Given the description of an element on the screen output the (x, y) to click on. 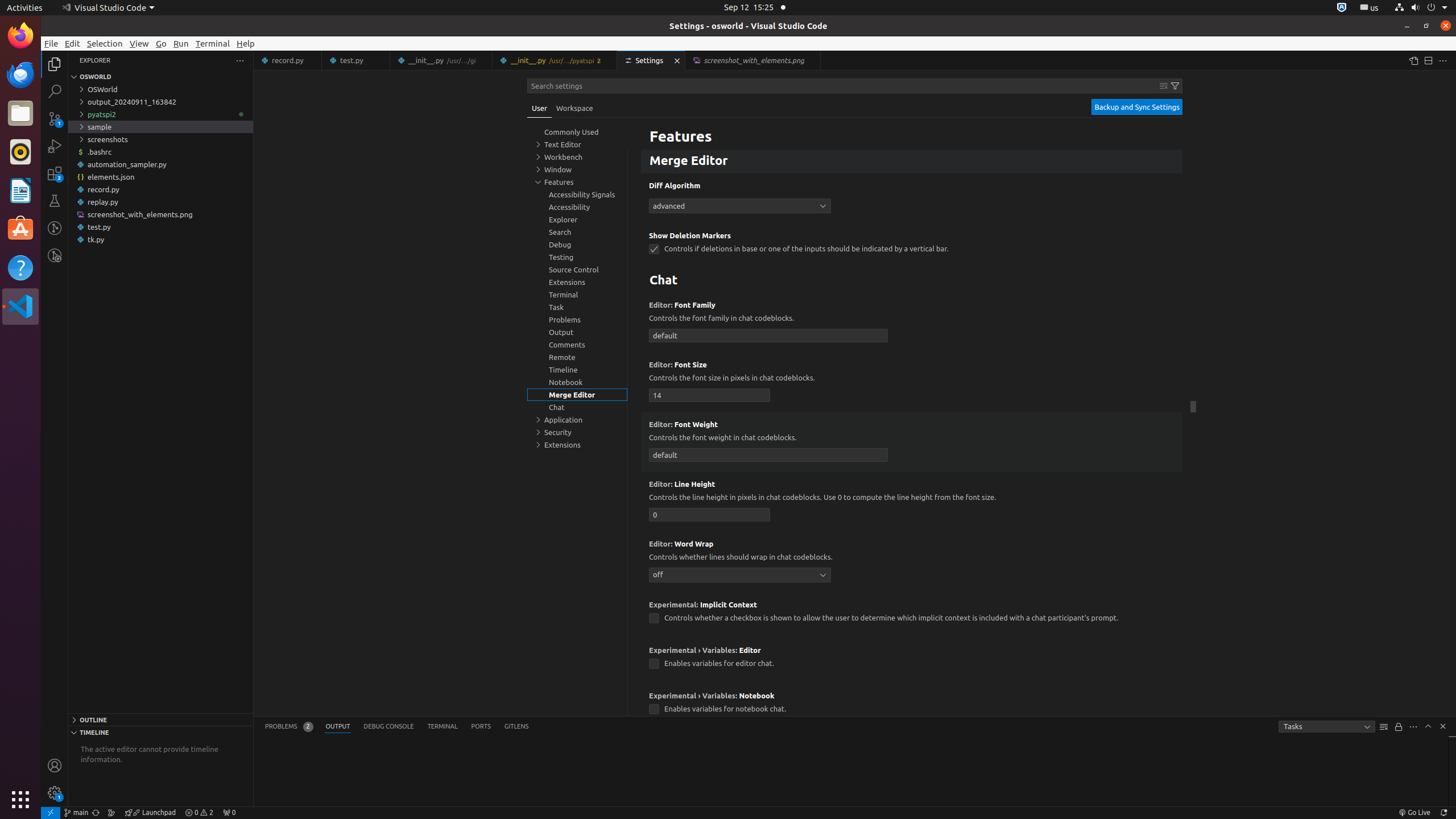
Editor Font Size. Controls the font size in pixels in chat codeblocks.  Element type: tree-item (911, 382)
Terminal Element type: push-button (212, 43)
Maximize Panel Size Element type: check-box (1427, 726)
Explorer, group Element type: tree-item (577, 219)
